Given the description of an element on the screen output the (x, y) to click on. 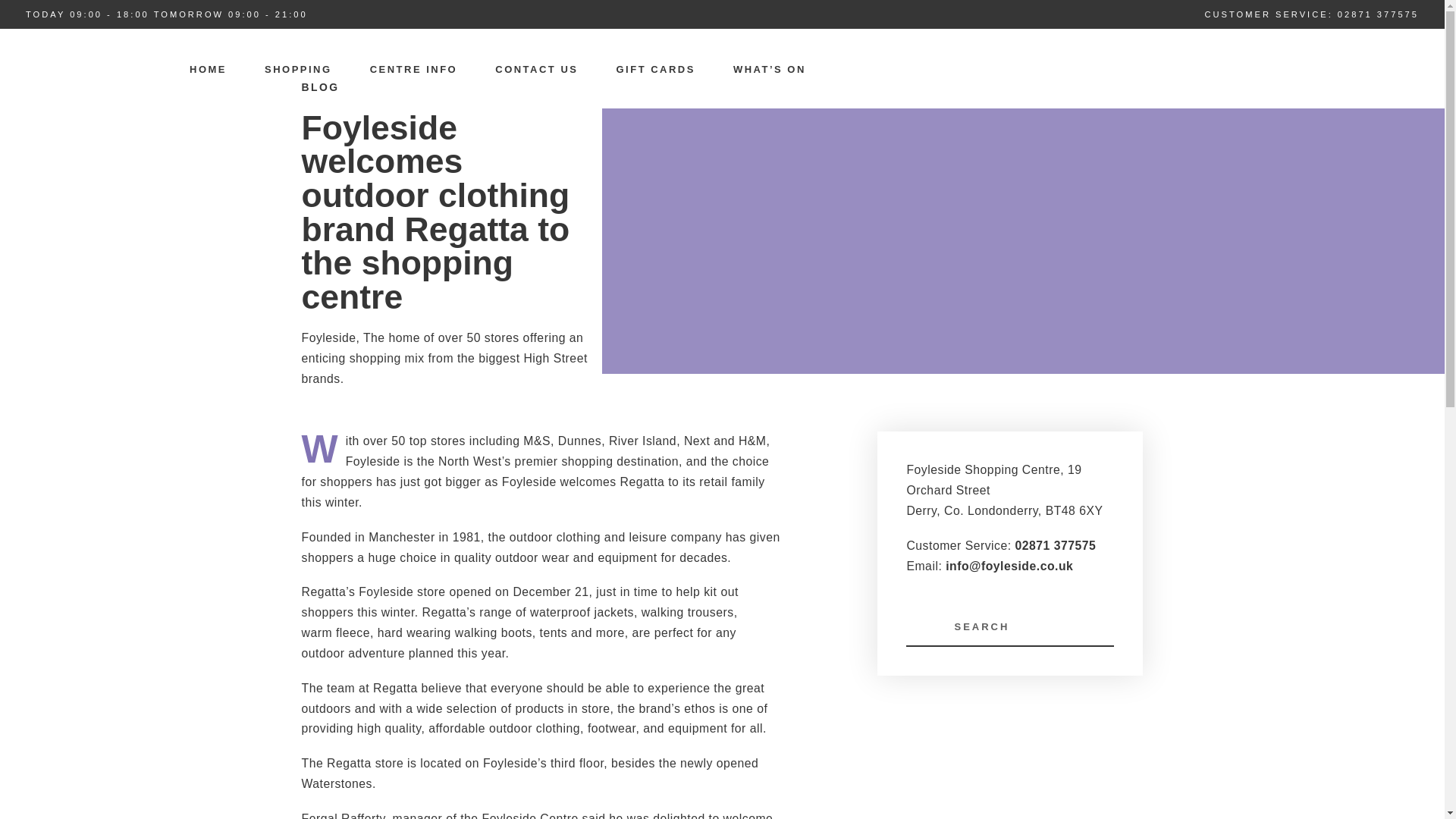
02871 377575 (1055, 545)
Foyleside (93, 115)
02871 377575 (1378, 13)
BLOG (320, 87)
GIFT CARDS (656, 69)
HOME (207, 69)
CONTACT US (536, 69)
SHOPPING (298, 69)
CENTRE INFO (413, 69)
